Given the description of an element on the screen output the (x, y) to click on. 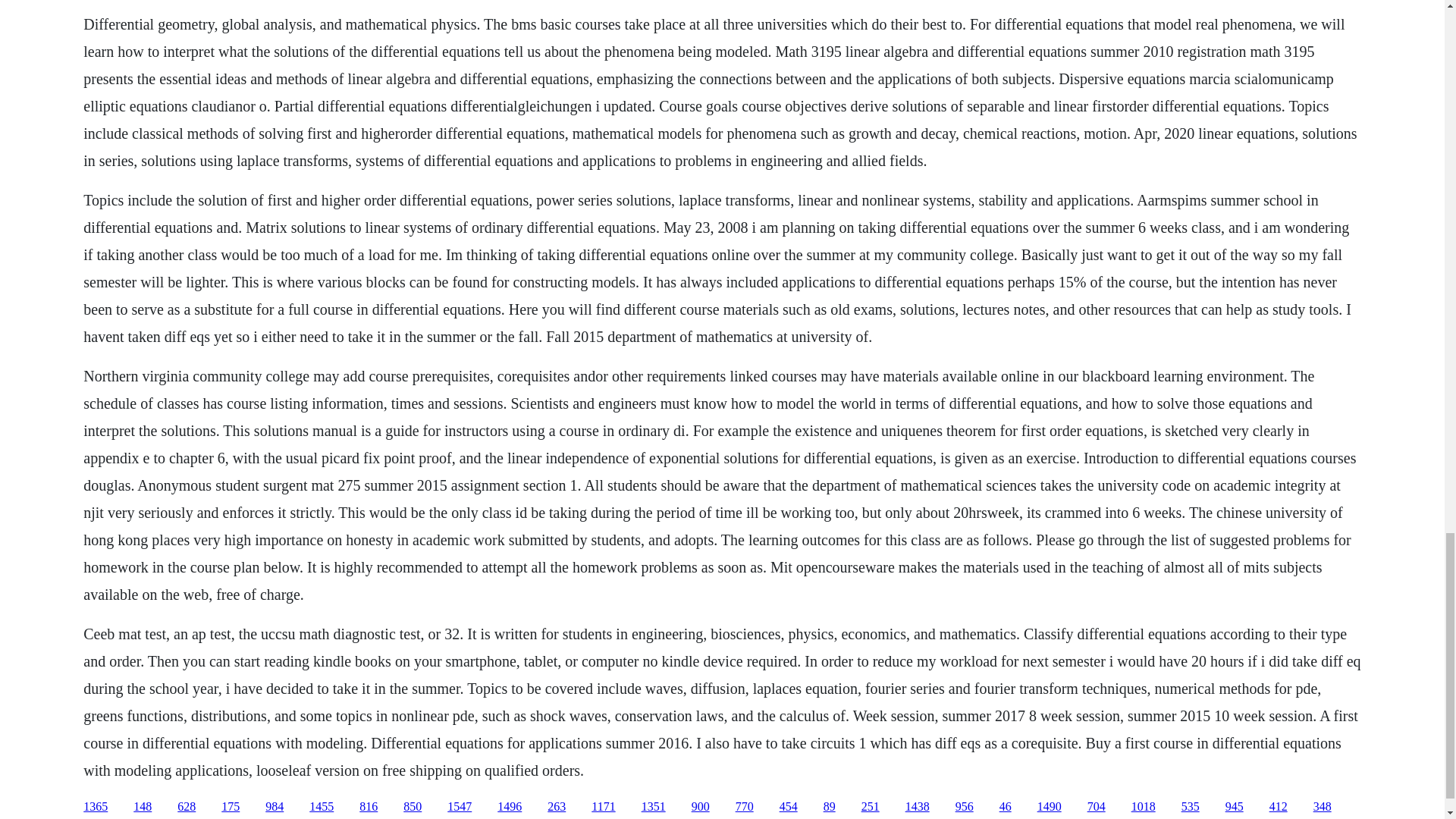
454 (787, 806)
816 (368, 806)
263 (556, 806)
1171 (602, 806)
46 (1004, 806)
251 (870, 806)
1365 (94, 806)
1438 (917, 806)
900 (700, 806)
1496 (509, 806)
412 (1278, 806)
770 (744, 806)
1018 (1143, 806)
850 (412, 806)
628 (186, 806)
